Given the description of an element on the screen output the (x, y) to click on. 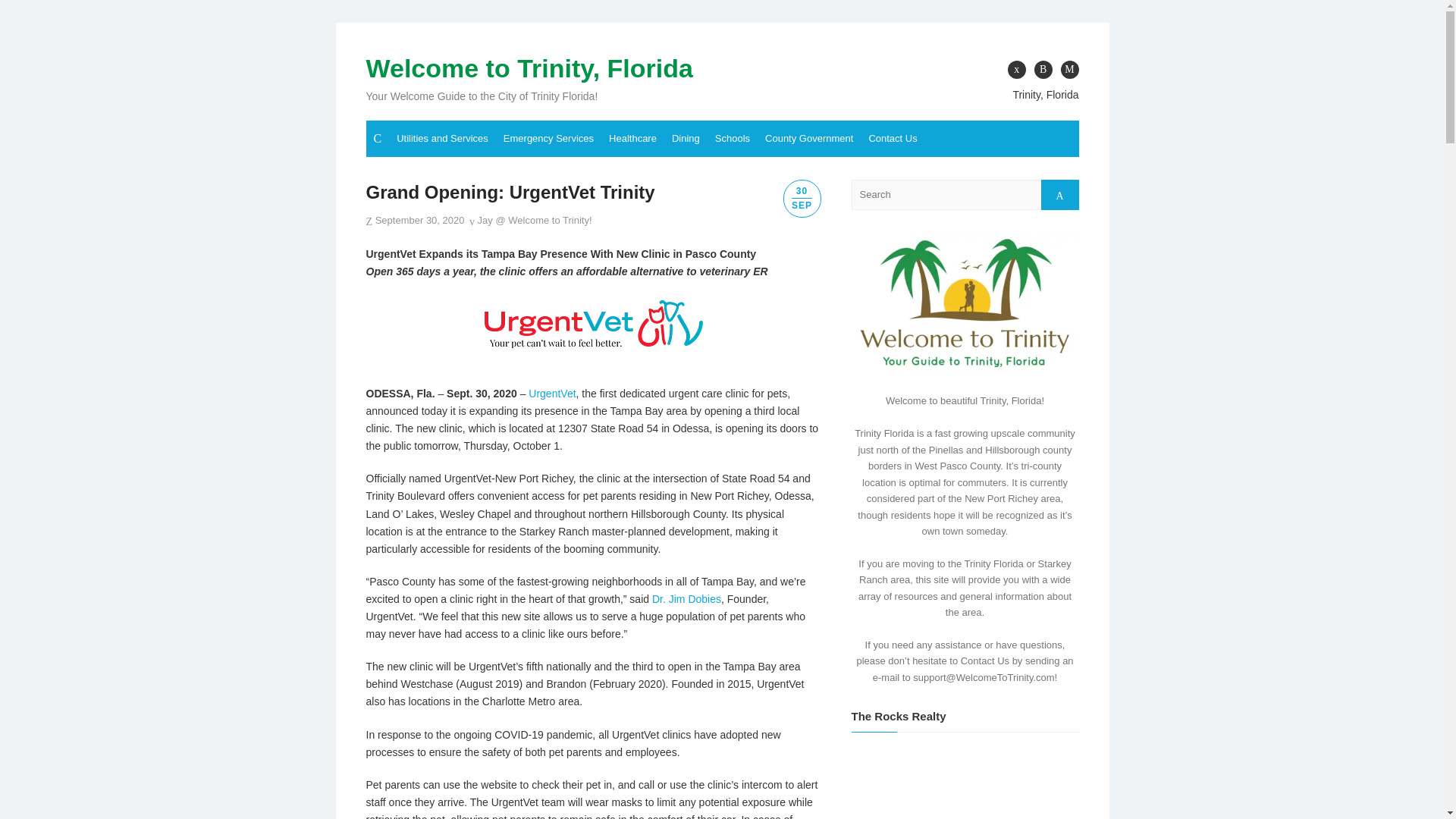
Welcome to Trinity, Florida (529, 68)
Dining (685, 138)
Schools (732, 138)
September 30, 2020 (419, 220)
Healthcare (632, 138)
Emergency Services (548, 138)
twitter (1042, 69)
facebook (1016, 69)
County Government (808, 138)
Dr. Jim Dobies (686, 598)
UrgentVet (551, 393)
Contact Us (892, 138)
rss (1068, 69)
Utilities and Services (442, 138)
